Given the description of an element on the screen output the (x, y) to click on. 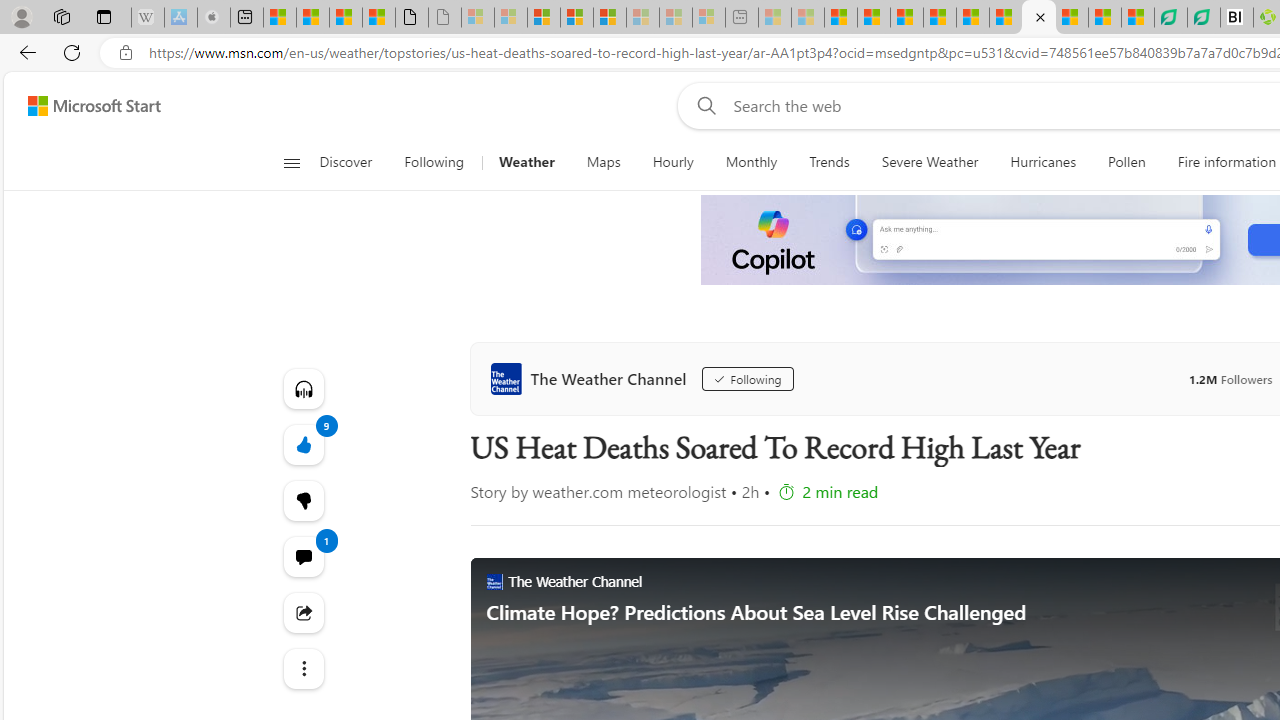
Listen to this article (302, 388)
Hurricanes (1043, 162)
Hurricanes (1042, 162)
9 (302, 500)
Microsoft account | Account Checkup - Sleeping (708, 17)
Severe Weather (929, 162)
Buy iPad - Apple - Sleeping (214, 17)
Microsoft Services Agreement - Sleeping (511, 17)
